Given the description of an element on the screen output the (x, y) to click on. 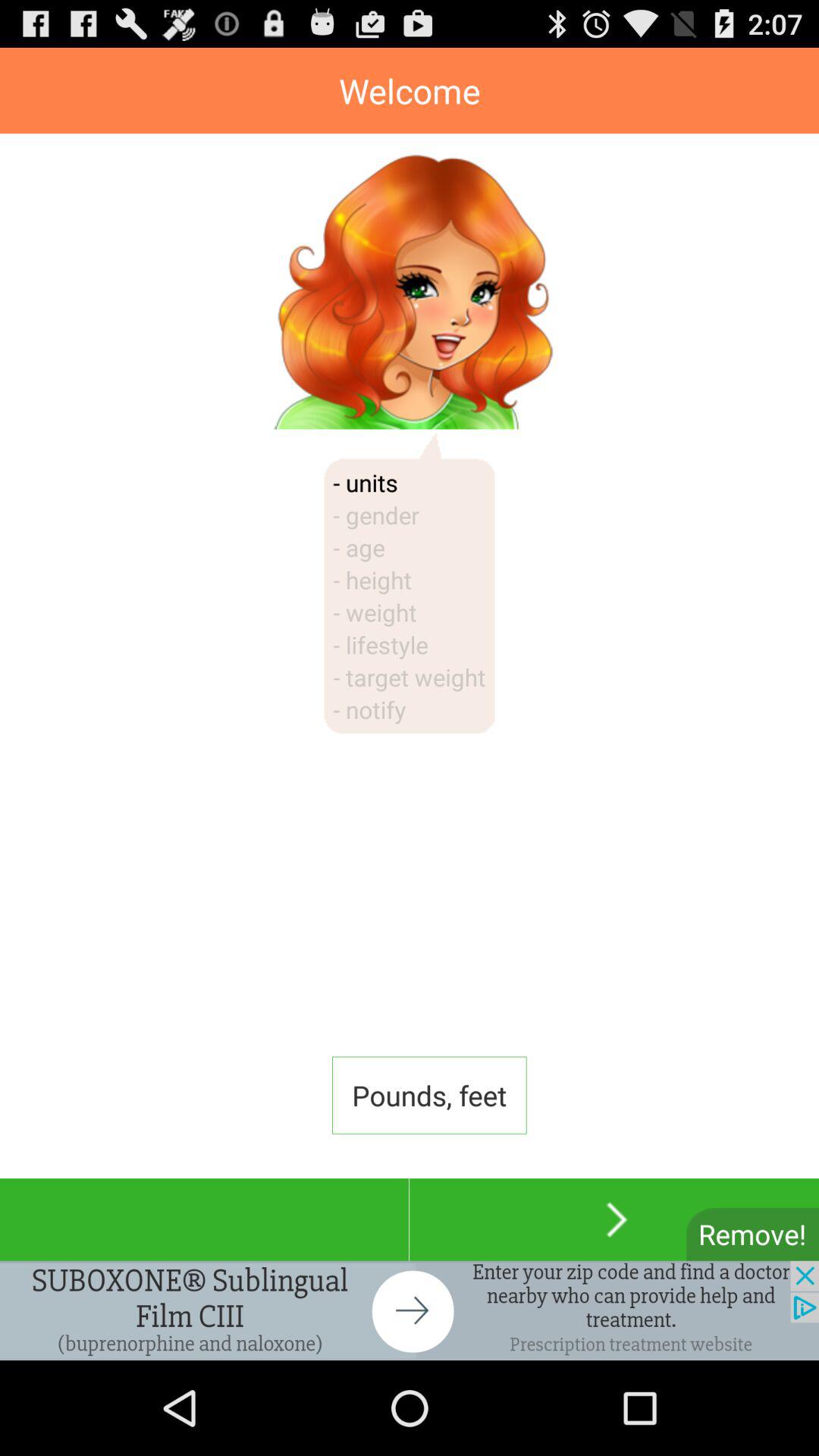
go to next page (614, 1219)
